Given the description of an element on the screen output the (x, y) to click on. 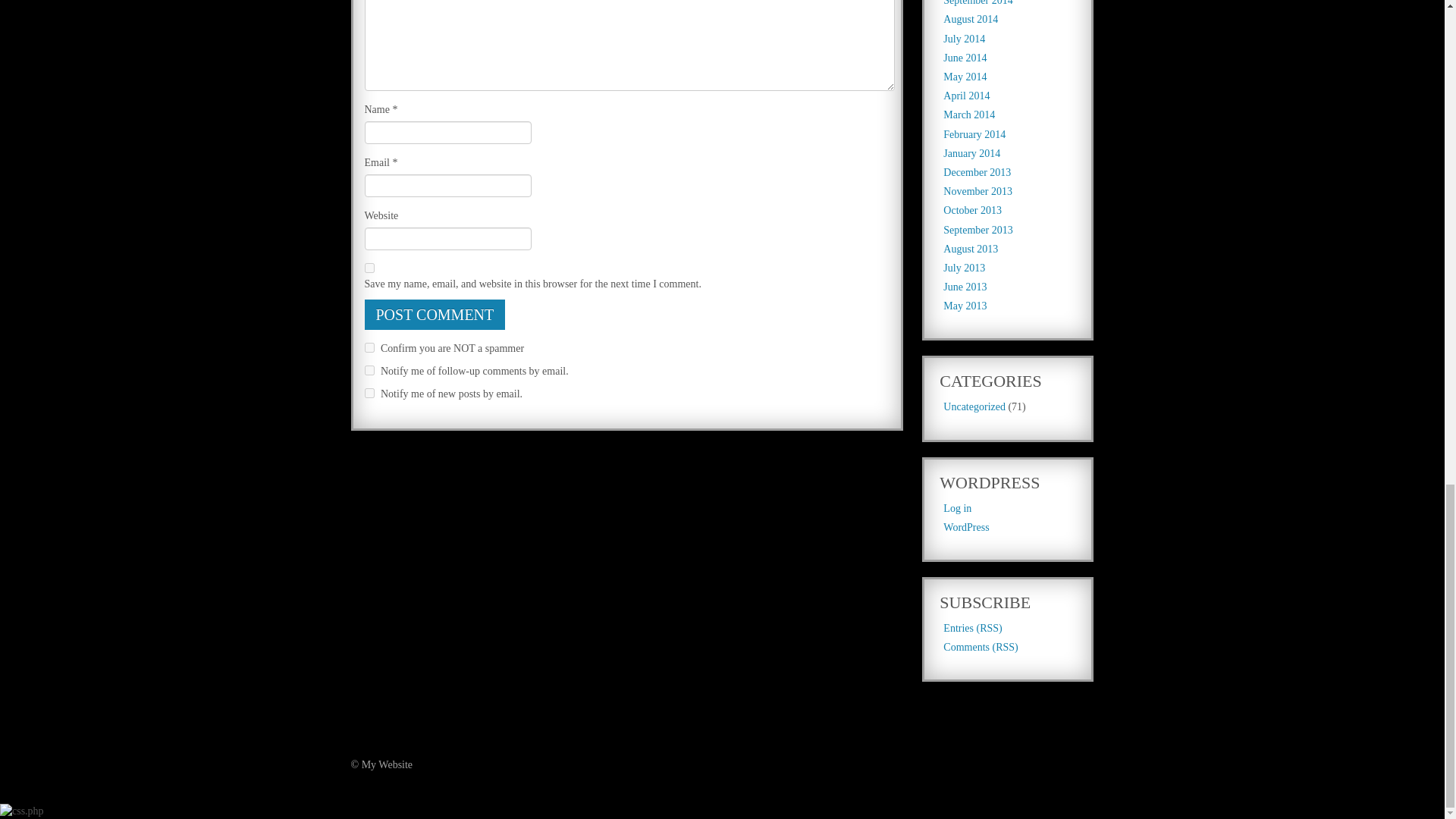
Post Comment (434, 314)
on (369, 347)
subscribe (369, 393)
yes (369, 267)
Post Comment (434, 314)
subscribe (369, 370)
